Given the description of an element on the screen output the (x, y) to click on. 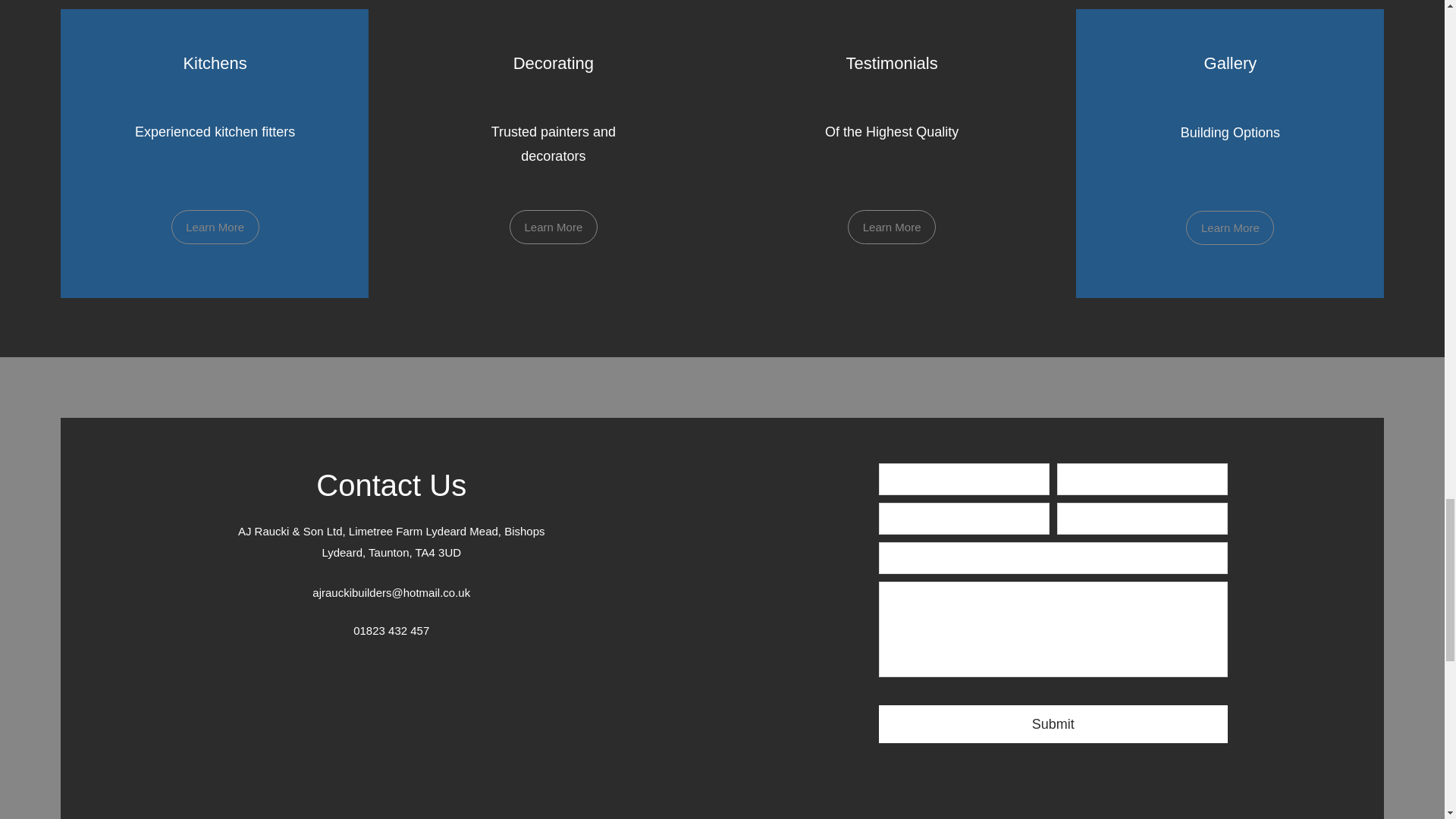
Learn More (1230, 227)
Submit (1053, 723)
Learn More (891, 226)
